Given the description of an element on the screen output the (x, y) to click on. 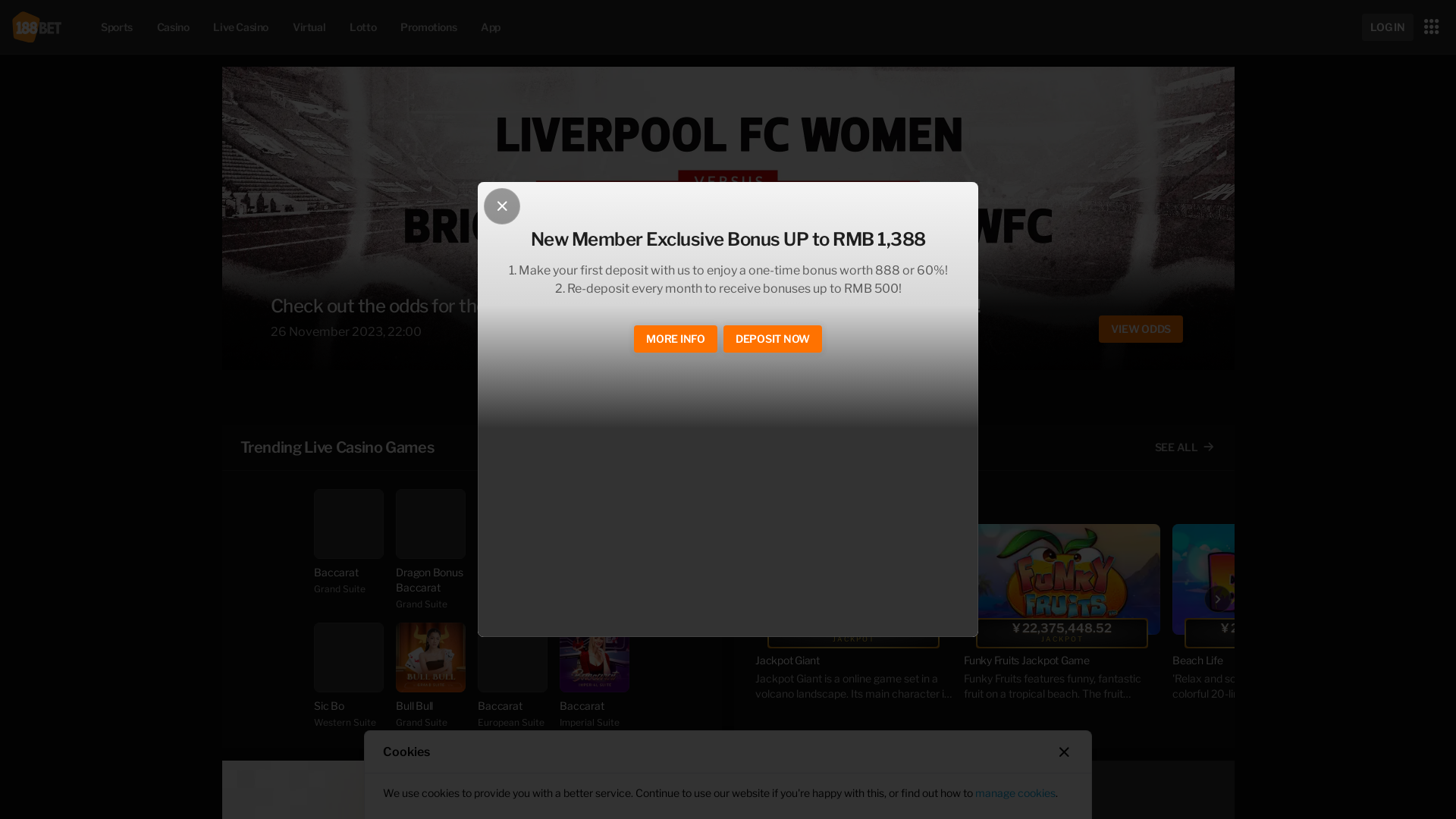
Multi Table Baccarat Element type: hover (512, 523)
manage cookies Element type: text (1015, 792)
SEE ALL Element type: text (1184, 447)
Sports Element type: text (116, 26)
Dragon Bonus Baccarat Element type: hover (430, 523)
Funky Fruits Jackpot Game Element type: text (1061, 660)
Virtual Element type: text (308, 26)
Lotto Element type: text (362, 26)
Casino Element type: text (172, 26)
App Element type: text (490, 26)
DEPOSIT NOW Element type: text (772, 338)
Baccarat Element type: hover (594, 523)
Baccarat Element type: hover (348, 523)
SEE ALL Element type: text (671, 447)
MORE INFO Element type: text (675, 338)
Beach Life Element type: hover (1270, 579)
Jackpot Giant Element type: hover (853, 579)
Live Casino Element type: text (240, 26)
LOG IN Element type: text (1387, 26)
Jackpot Giant Element type: text (853, 660)
Biggest jackpot Element type: text (805, 447)
VIEW ODDS Element type: text (1140, 328)
Beach Life Element type: text (1270, 660)
Promotions Element type: text (428, 26)
Sic Bo Element type: hover (348, 657)
Baccarat Element type: hover (594, 657)
Baccarat Element type: hover (512, 657)
Bull Bull Element type: hover (430, 657)
Funky Fruits Jackpot Game Element type: hover (1061, 579)
